Given the description of an element on the screen output the (x, y) to click on. 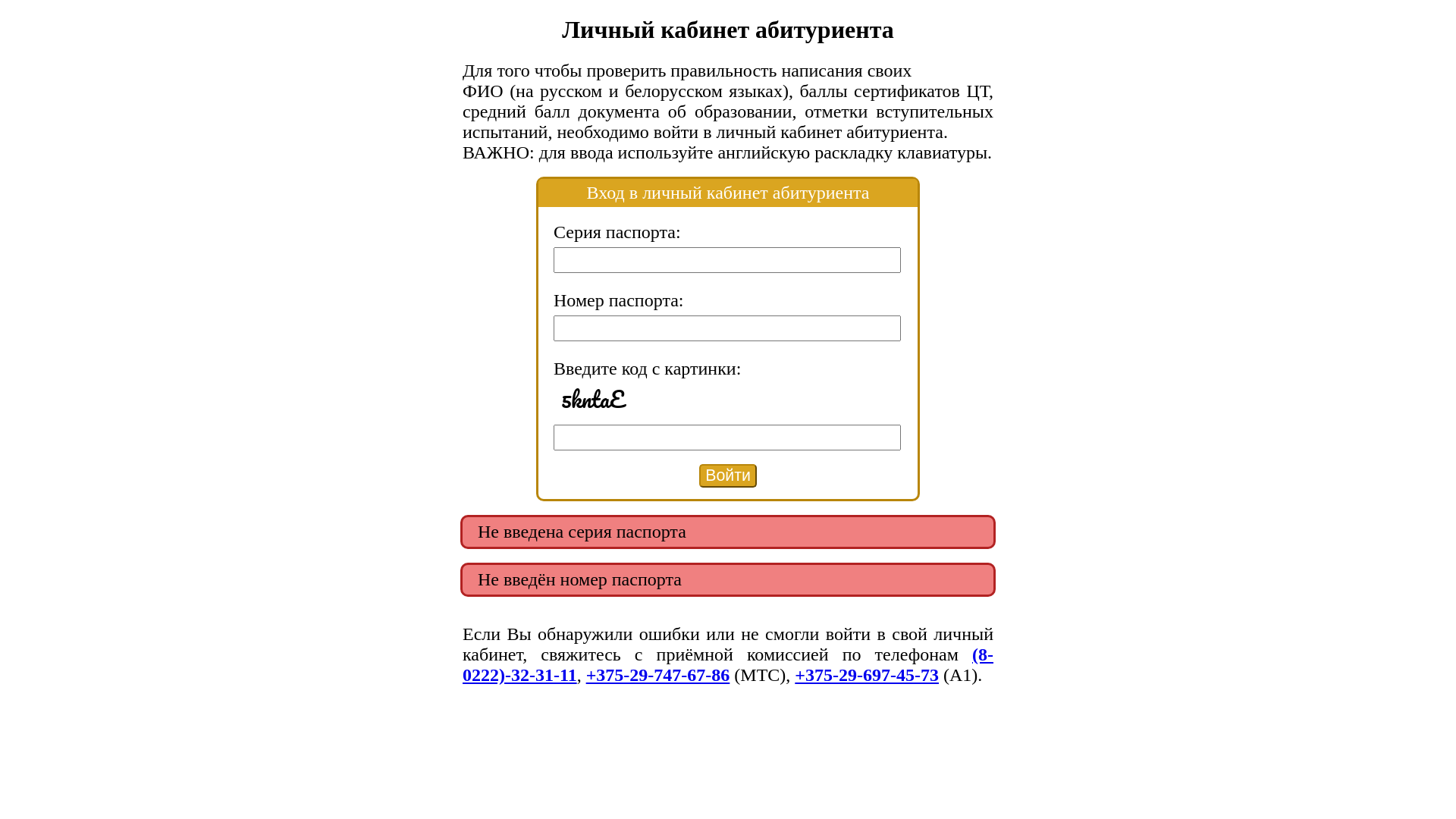
+375-29-747-67-86 Element type: text (658, 674)
(8-0222)-32-31-11 Element type: text (727, 664)
+375-29-697-45-73 Element type: text (866, 674)
